Given the description of an element on the screen output the (x, y) to click on. 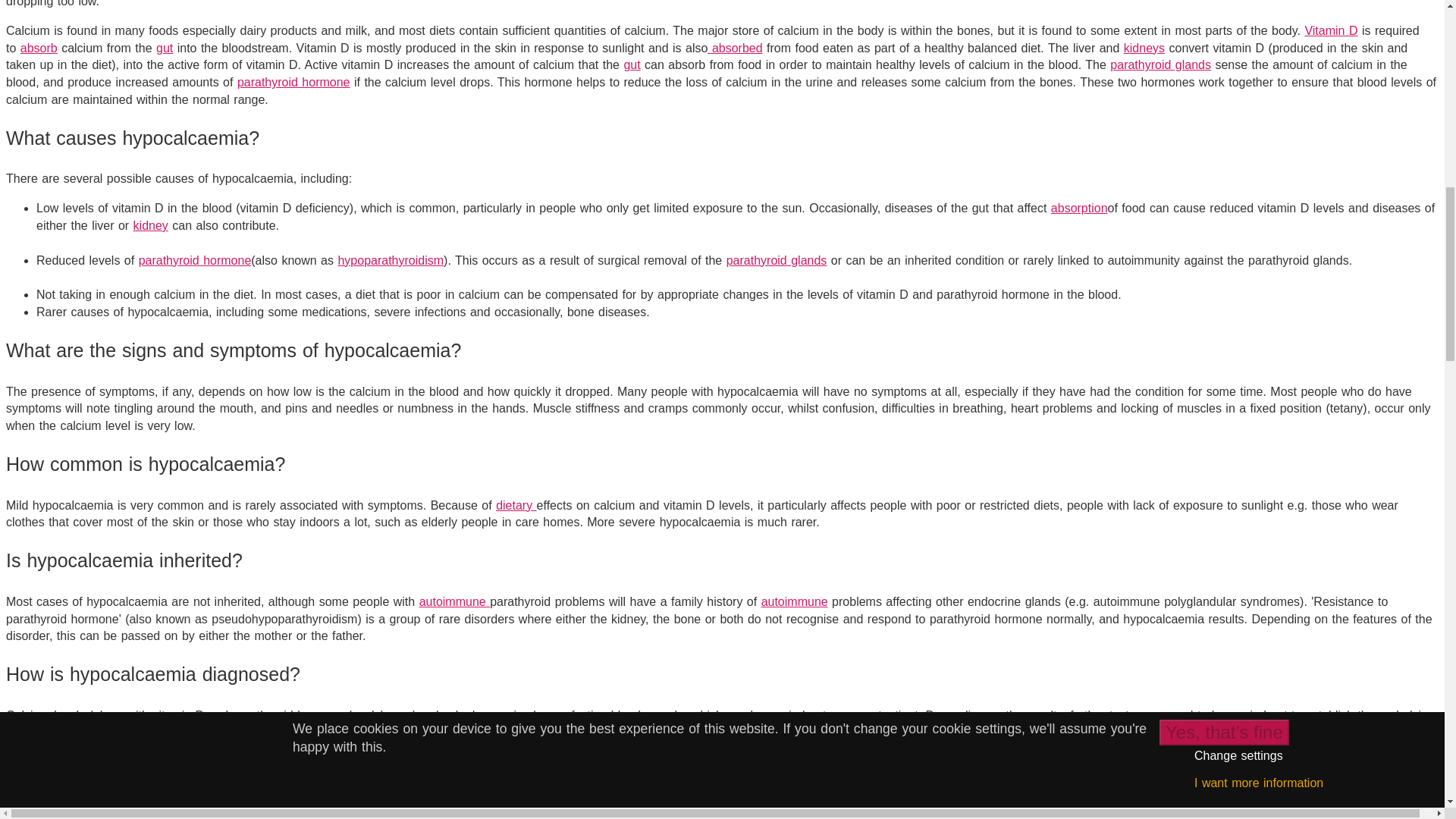
absorb (39, 47)
gut (164, 47)
absorbed (736, 47)
gut (631, 64)
autoimmune (794, 601)
hypoparathyroidism (1156, 811)
absorbed (736, 47)
Vitamin D (1330, 30)
